Given the description of an element on the screen output the (x, y) to click on. 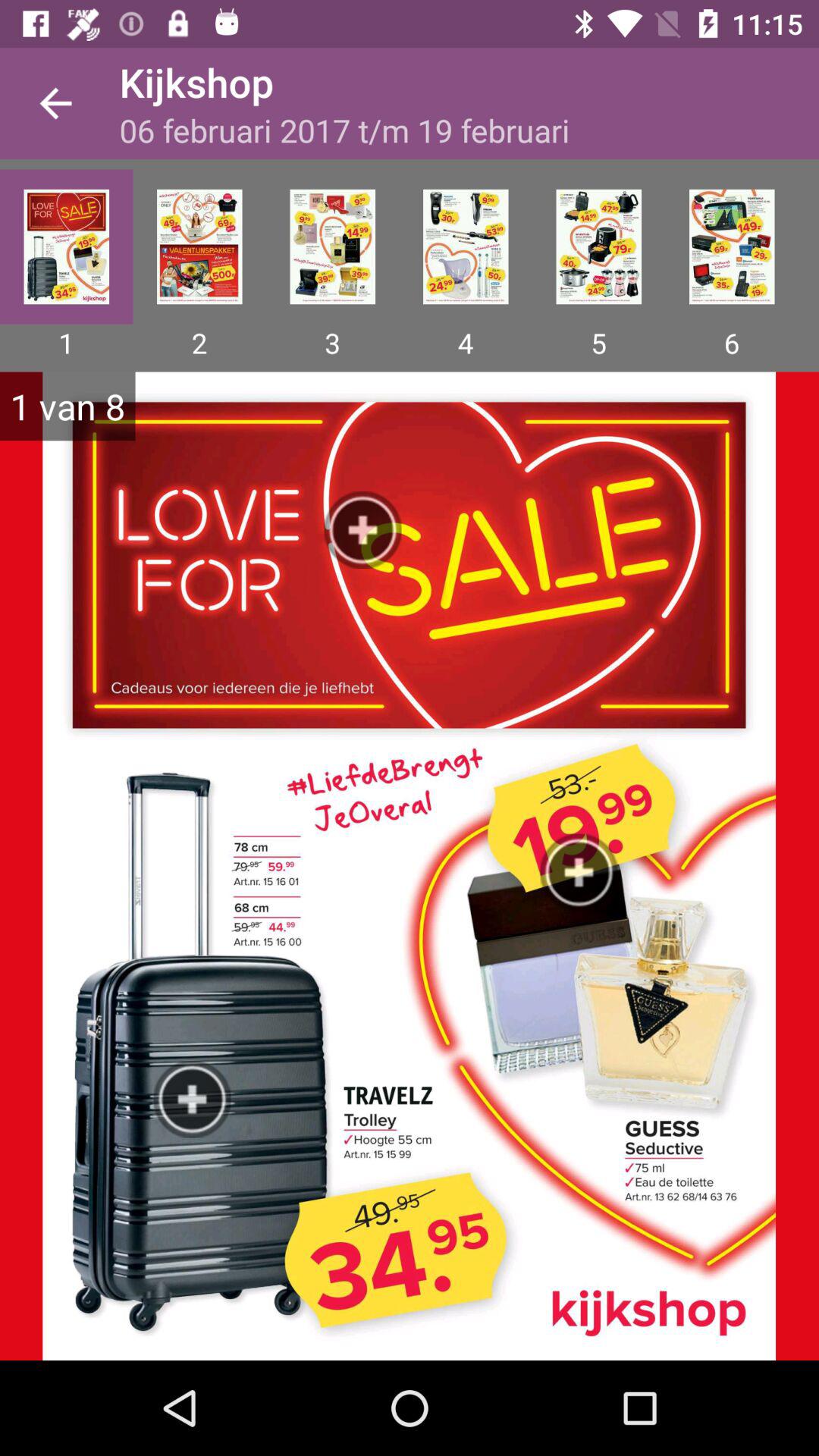
tap the icon above the 1 app (66, 246)
